Given the description of an element on the screen output the (x, y) to click on. 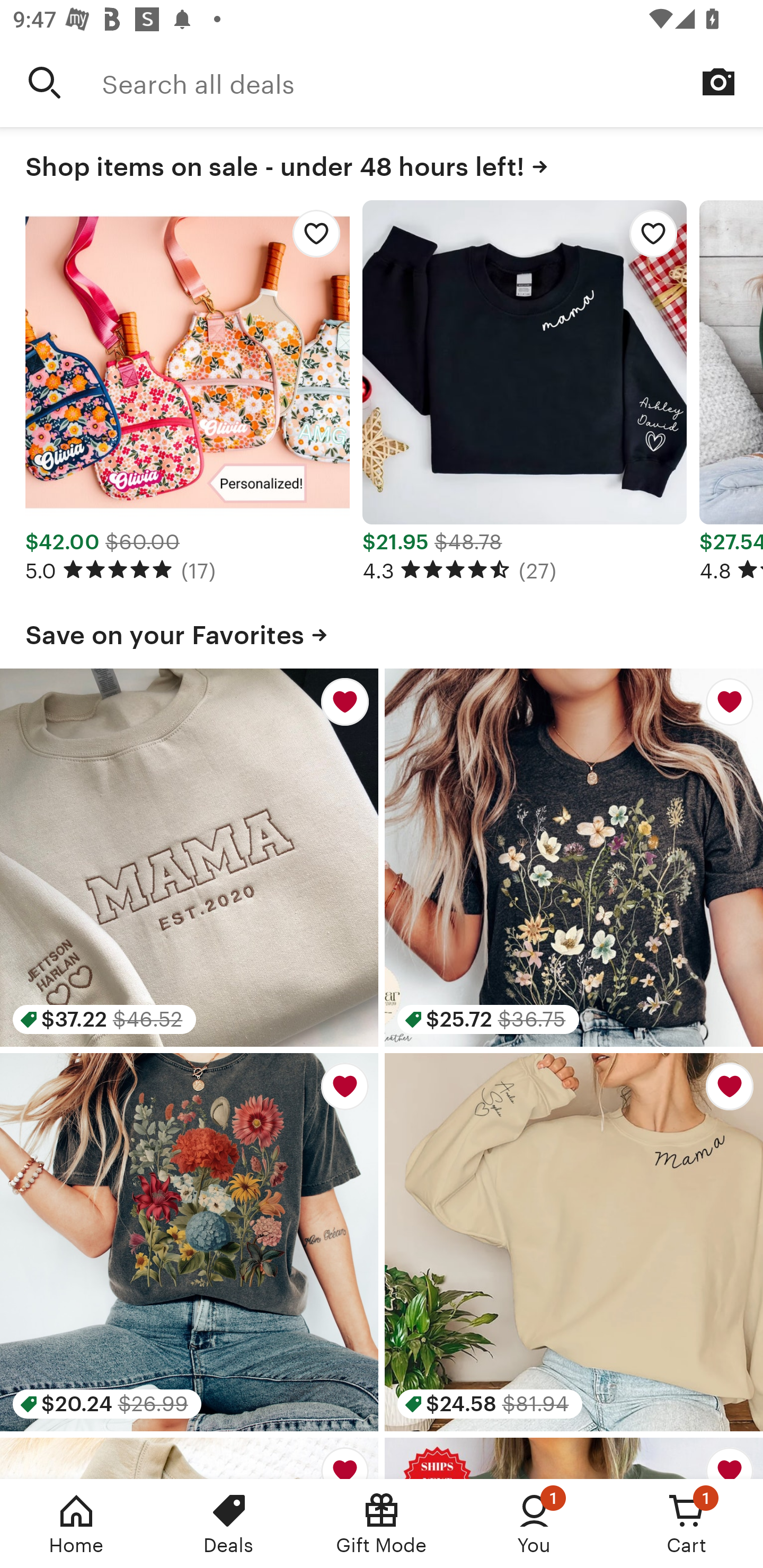
Search for anything on Etsy (44, 82)
Search by image (718, 81)
Search all deals (432, 82)
Shop items on sale - under 48 hours left! (381, 163)
Save on your Favorites (381, 631)
Home (76, 1523)
Gift Mode (381, 1523)
You, 1 new notification You (533, 1523)
Cart, 1 new notification Cart (686, 1523)
